Given the description of an element on the screen output the (x, y) to click on. 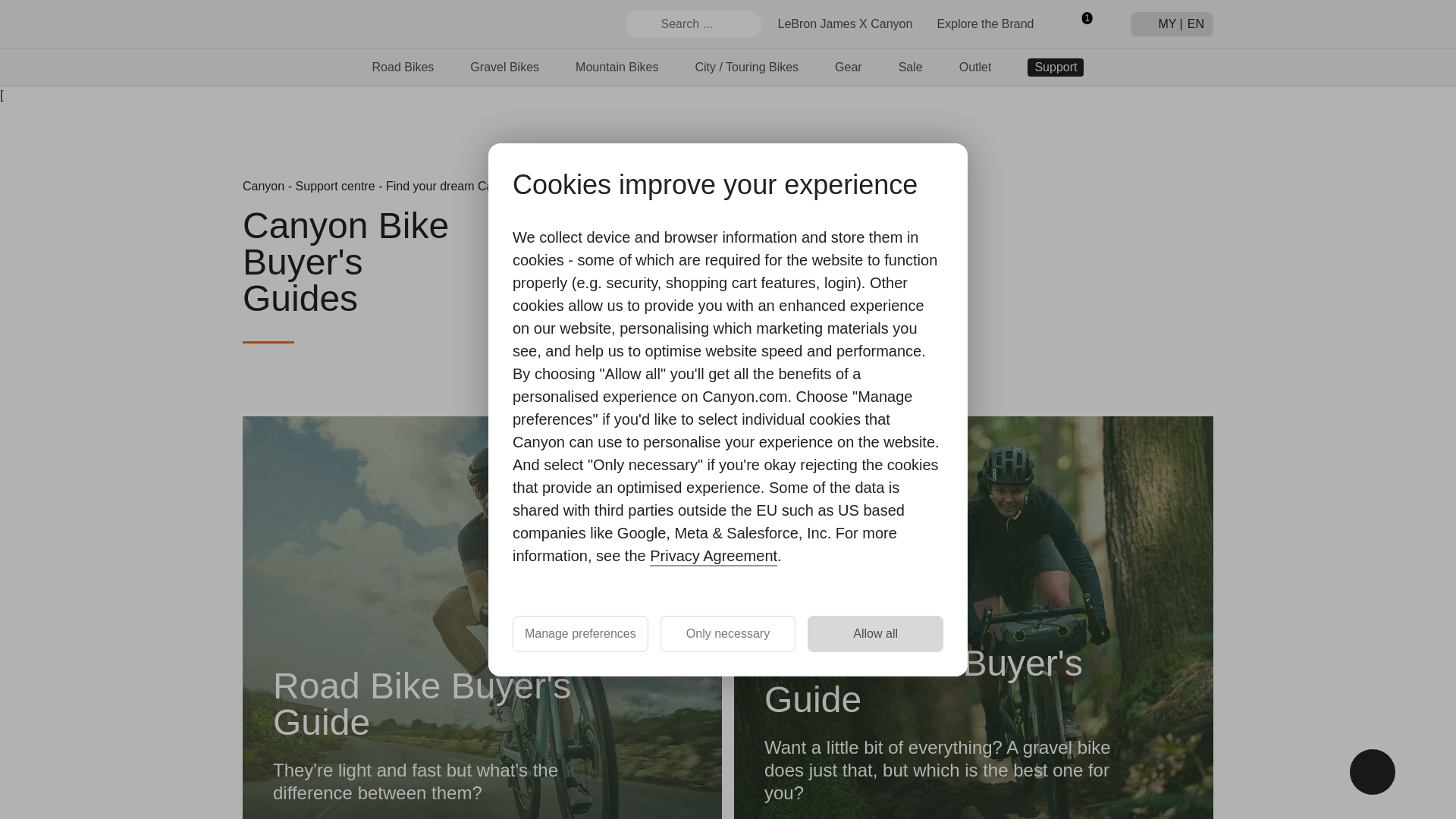
Canyon (297, 23)
Search ... (692, 23)
Road Bikes (402, 67)
LeBron James X Canyon (844, 23)
1 (1080, 24)
Explore the Brand (984, 23)
